Given the description of an element on the screen output the (x, y) to click on. 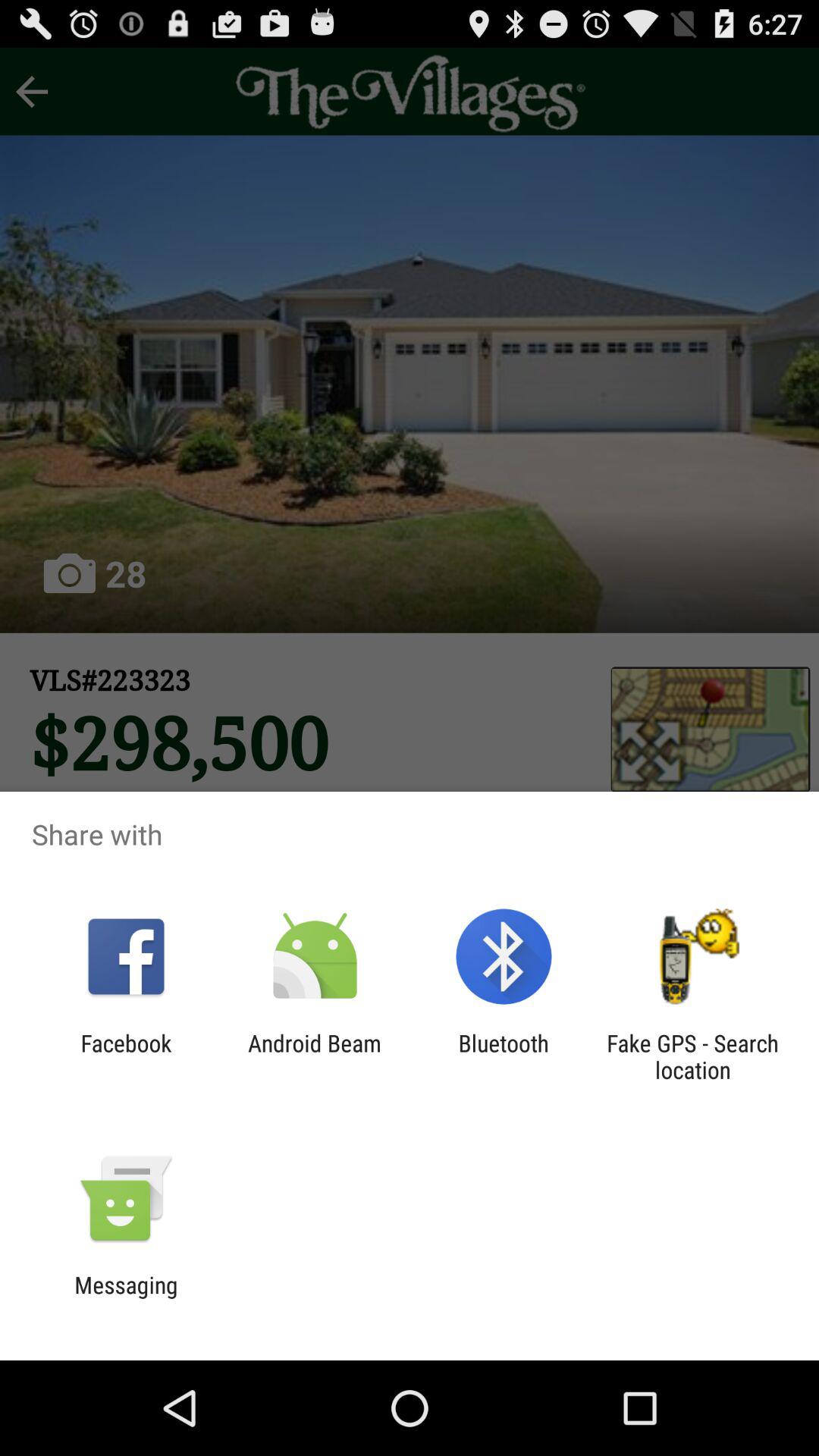
tap the app next to android beam app (503, 1056)
